Given the description of an element on the screen output the (x, y) to click on. 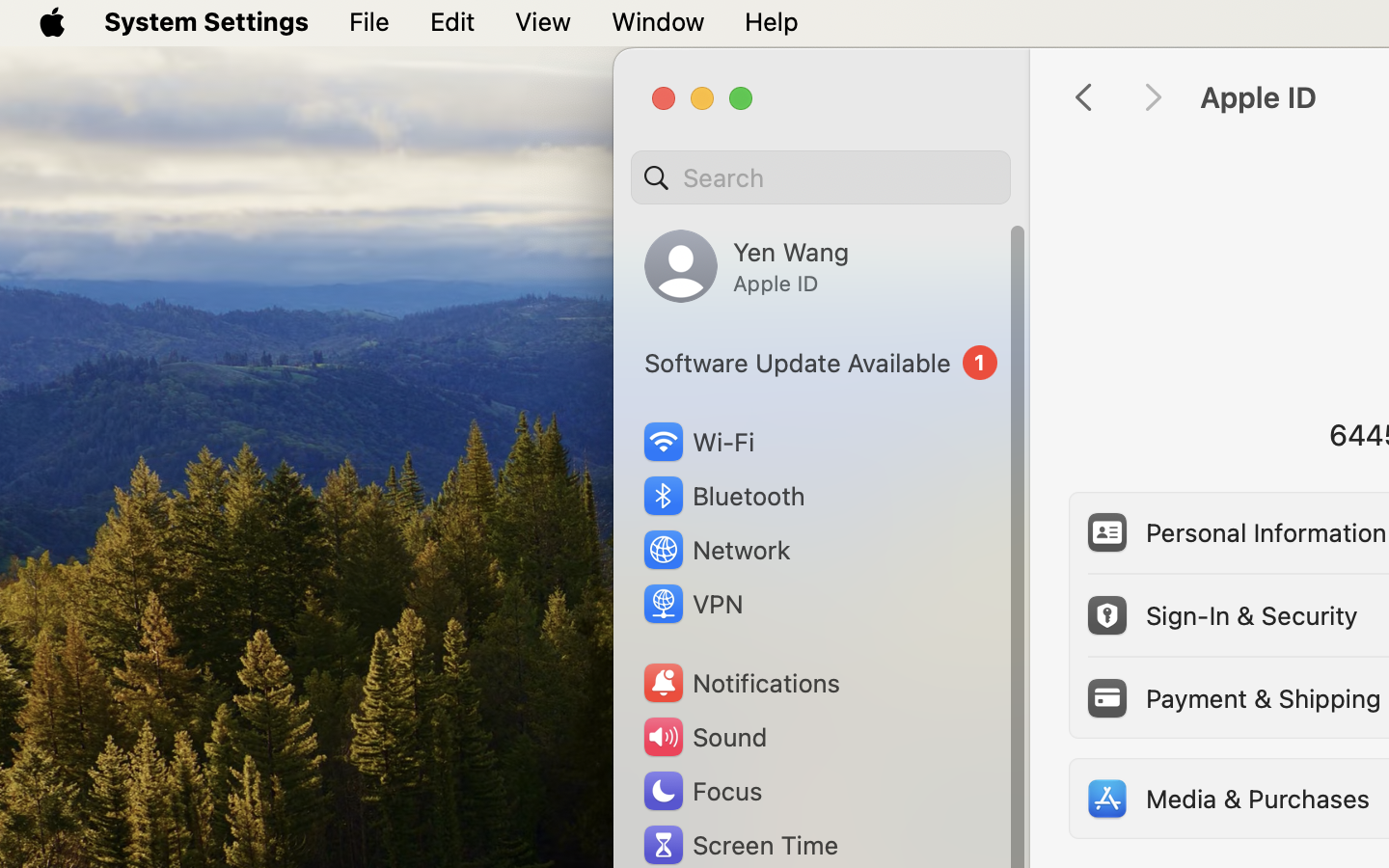
Sound Element type: AXStaticText (703, 736)
Focus Element type: AXStaticText (701, 790)
Screen Time Element type: AXStaticText (739, 844)
Wi‑Fi Element type: AXStaticText (697, 441)
Bluetooth Element type: AXStaticText (723, 495)
